Given the description of an element on the screen output the (x, y) to click on. 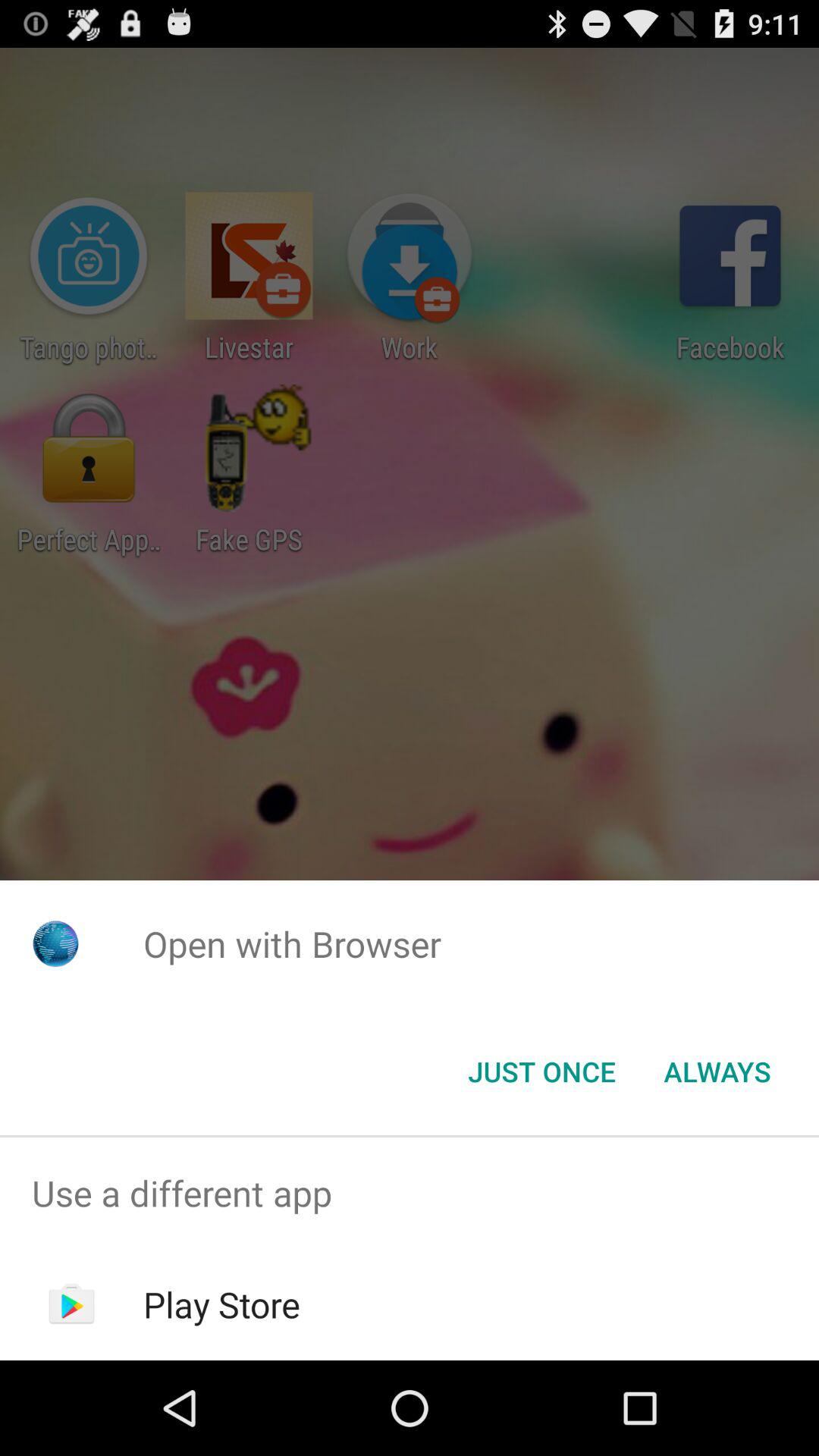
flip to always item (717, 1071)
